Given the description of an element on the screen output the (x, y) to click on. 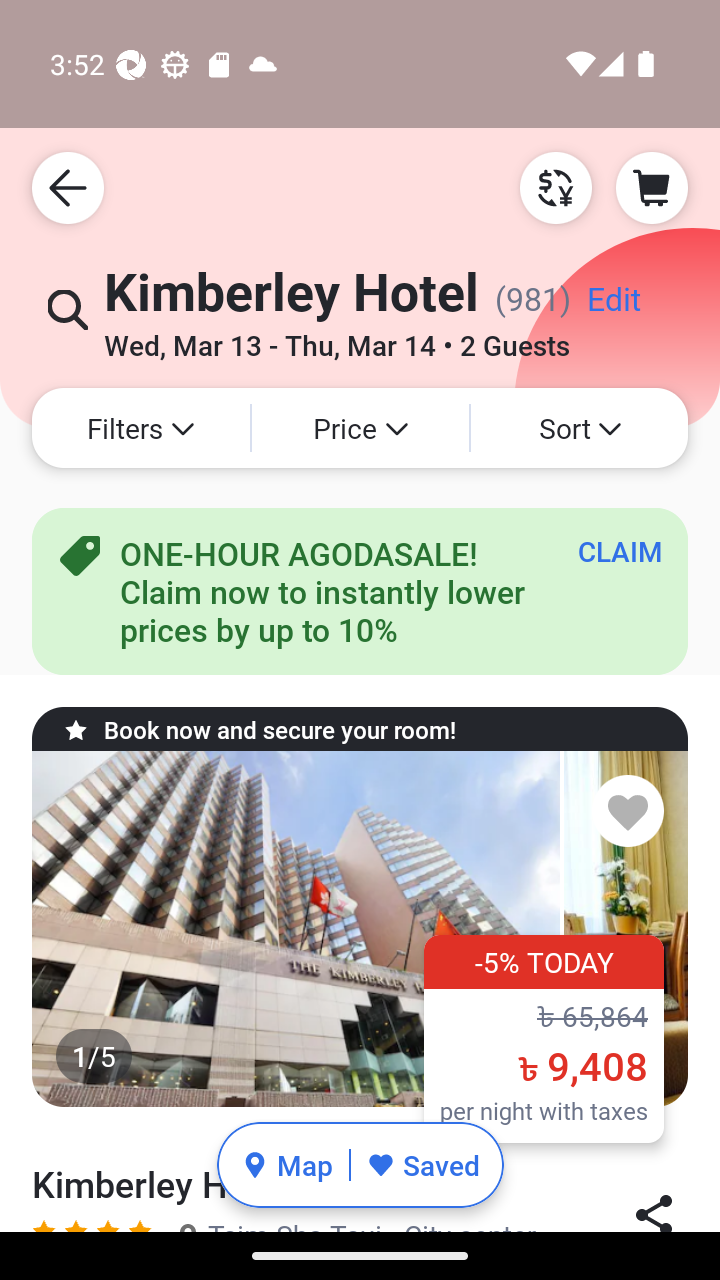
Edit (613, 306)
Filters (140, 428)
Price (359, 428)
Sort (579, 428)
CLAIM (620, 551)
1/5 (359, 929)
-5% TODAY ‪৳ 65,864 ‪৳ 9,408 per night with taxes (543, 1038)
Map Saved (359, 1165)
